Given the description of an element on the screen output the (x, y) to click on. 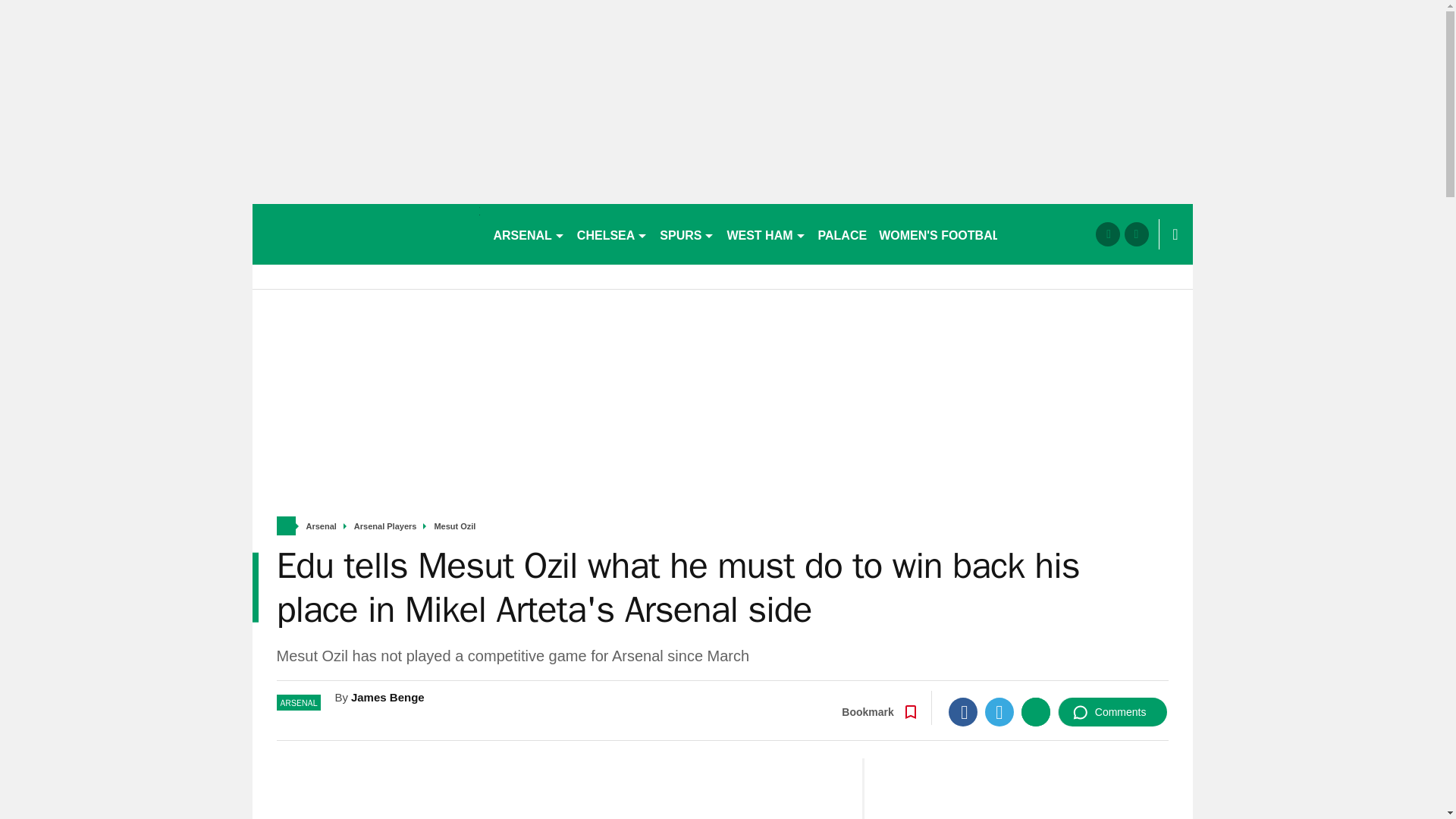
Comments (1112, 711)
CHELSEA (611, 233)
WOMEN'S FOOTBALL (942, 233)
Facebook (962, 711)
footballlondon (365, 233)
PALACE (842, 233)
ARSENAL (528, 233)
facebook (1106, 233)
twitter (1136, 233)
WEST HAM (765, 233)
